Given the description of an element on the screen output the (x, y) to click on. 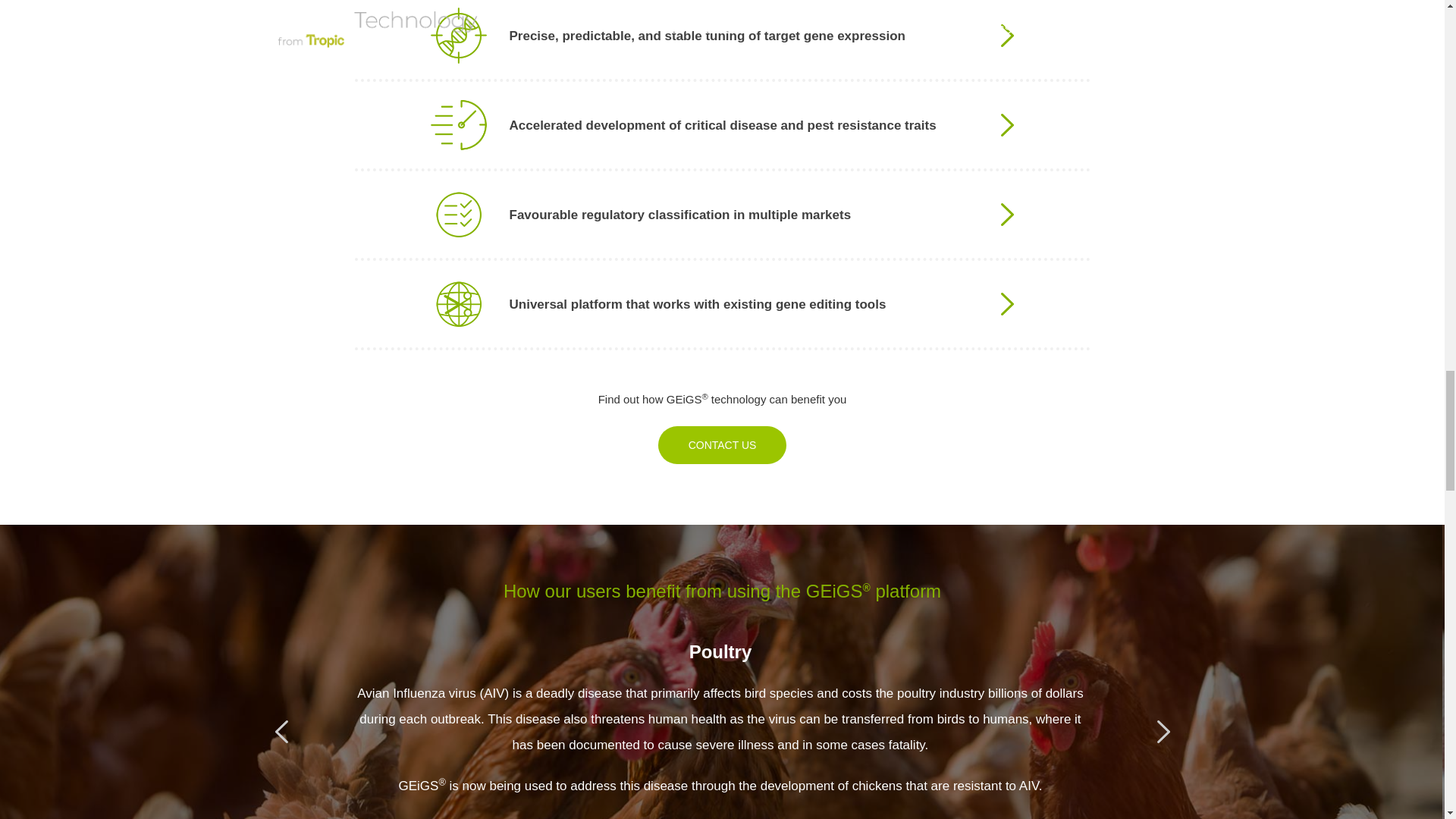
CONTACT US (722, 444)
